Given the description of an element on the screen output the (x, y) to click on. 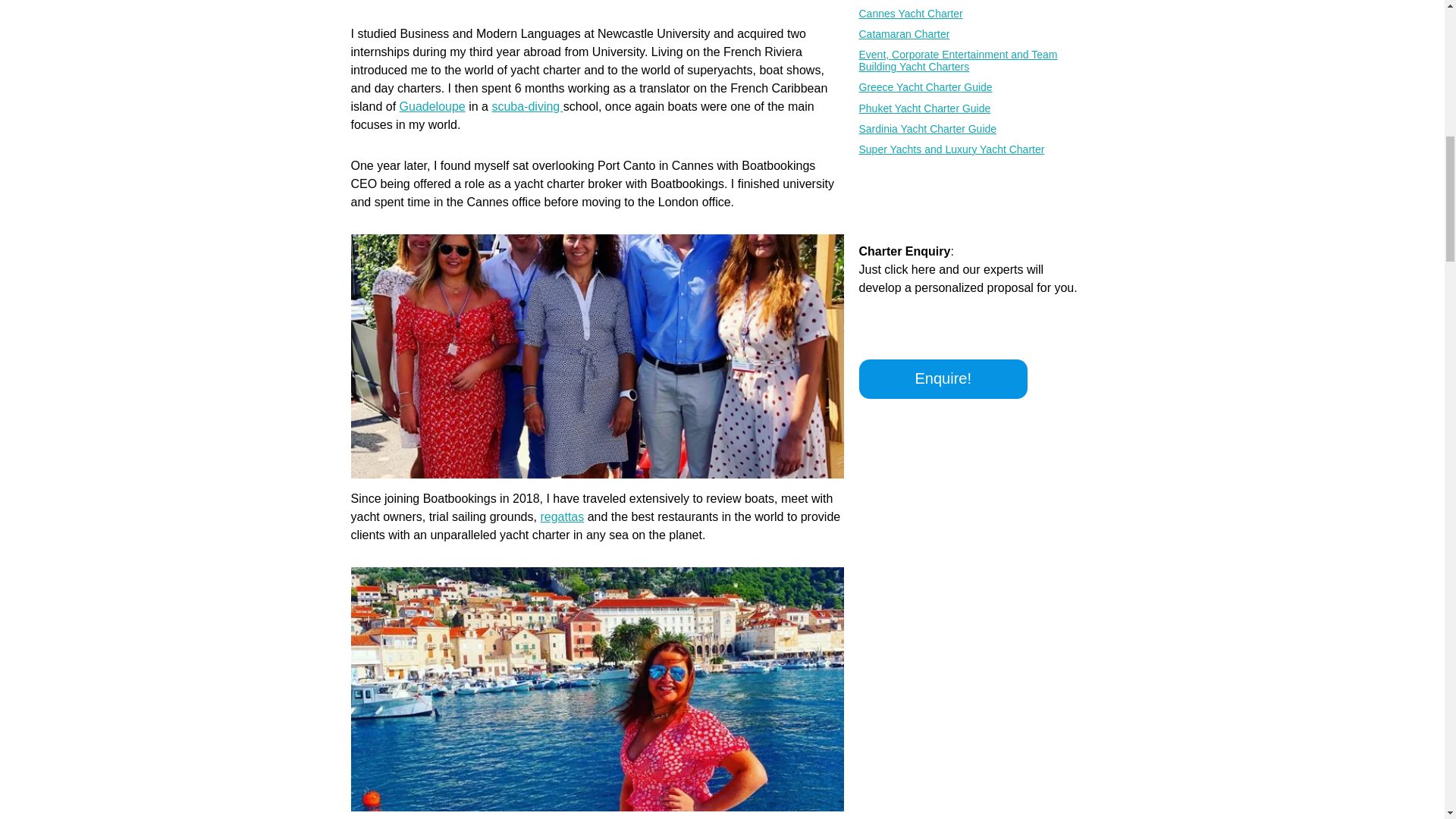
Cannes Yacht Charter (972, 13)
Phuket Yacht Charter Guide (972, 108)
scuba-diving (527, 106)
Guadeloupe (431, 106)
regattas (561, 516)
Catamaran Charter (972, 33)
Information and Advice on Chartering Catamarans (972, 33)
Greece Yacht Charter Guide (972, 87)
Sardinia Yacht Charter Guide (972, 128)
Luxury Yacht Charter for Discerning Clients (972, 149)
